Given the description of an element on the screen output the (x, y) to click on. 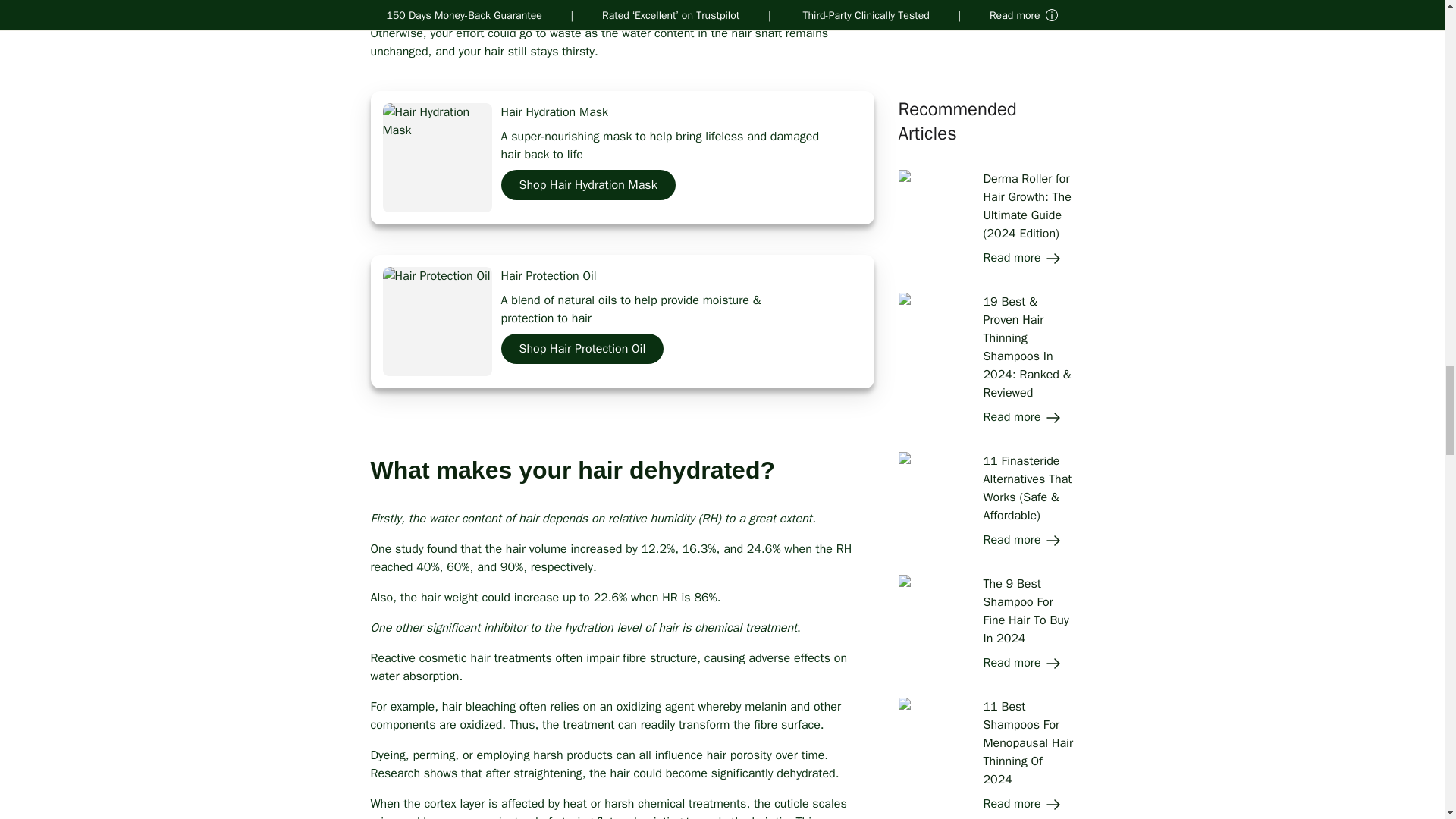
Shop Hair Protection Oil (581, 342)
Shop Hair Hydration Mask (587, 178)
Shop Hair Protection Oil (581, 348)
Shop Hair Hydration Mask (587, 184)
